Given the description of an element on the screen output the (x, y) to click on. 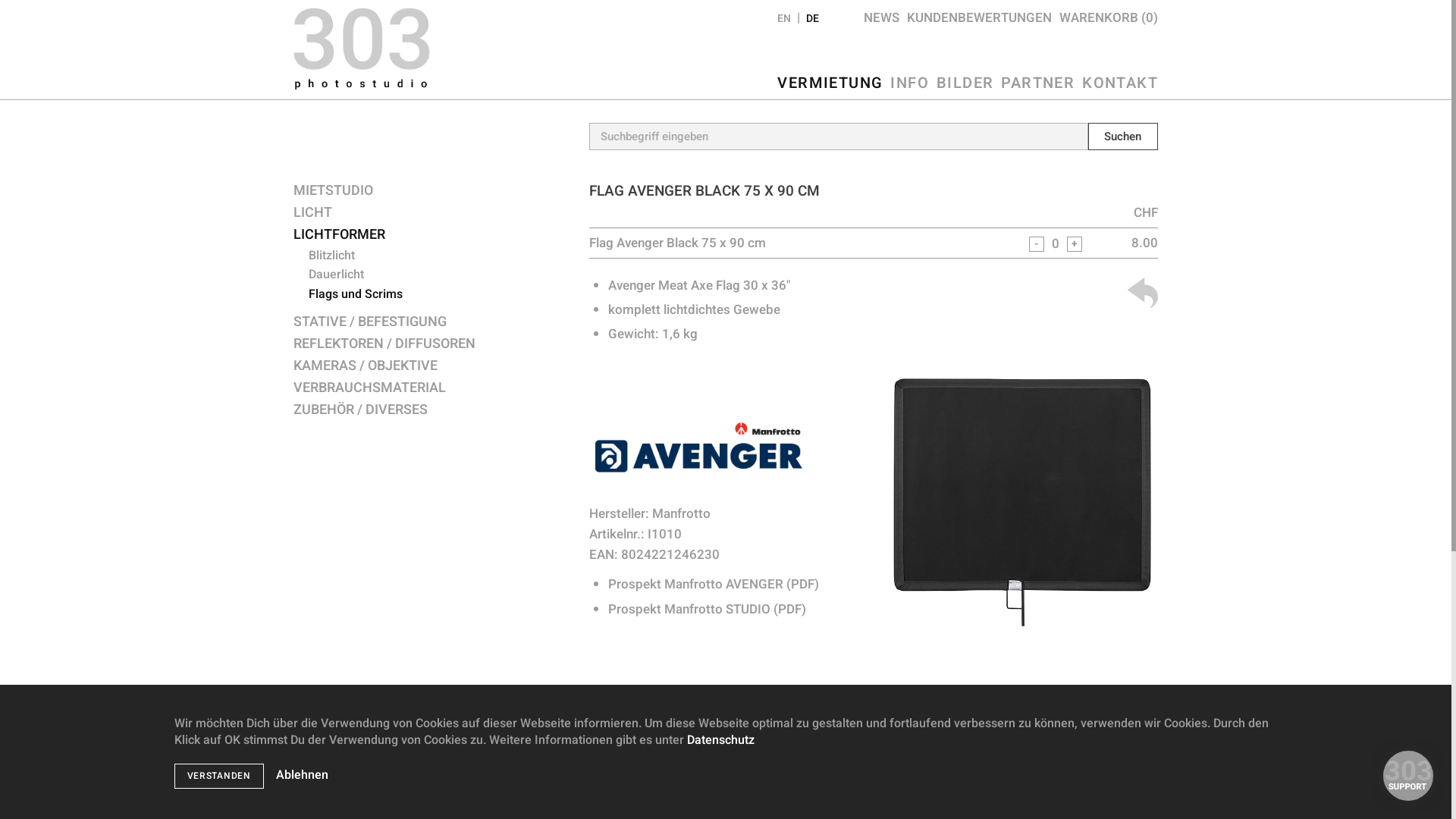
PARTNER Element type: text (1037, 83)
Suchen Element type: text (1122, 136)
BILDER Element type: text (964, 83)
Dauerlicht Element type: text (437, 275)
DE Element type: text (812, 18)
EN Element type: text (783, 18)
+ Element type: text (1074, 243)
CHF Element type: text (1145, 212)
REFLEKTOREN / DIFFUSOREN Element type: text (429, 344)
INFO Element type: text (909, 83)
Blitzlicht Element type: text (437, 256)
Generator Broncolor GRAFIT A2 1600 J RFS Element type: text (715, 746)
- Element type: text (1036, 243)
LICHT Element type: text (429, 213)
VERSTANDEN Element type: text (218, 775)
Prospekt Manfrotto AVENGER (PDF) Element type: text (713, 583)
KAMERAS / OBJEKTIVE Element type: text (429, 366)
VERBRAUCHSMATERIAL Element type: text (429, 388)
KONTAKT Element type: text (1119, 83)
KUNDENBEWERTUNGEN Element type: text (978, 17)
VERMIETUNG Element type: text (829, 83)
STATIVE / BEFESTIGUNG Element type: text (429, 322)
Manfrotto Element type: text (681, 513)
LICHTFORMER Element type: text (429, 235)
Datenschutz Element type: text (720, 740)
Flag Avenger Black 75 x 90 cm Element type: hover (1020, 632)
NEWS Element type: text (881, 17)
WARENKORB (0) Element type: text (1108, 17)
Ablehnen Element type: text (302, 774)
+ Element type: text (1074, 747)
Prospekt Manfrotto STUDIO (PDF) Element type: text (707, 608)
MIETSTUDIO Element type: text (429, 191)
Flags und Scrims Element type: text (437, 294)
CHF Element type: text (1145, 715)
- Element type: text (1036, 747)
